Given the description of an element on the screen output the (x, y) to click on. 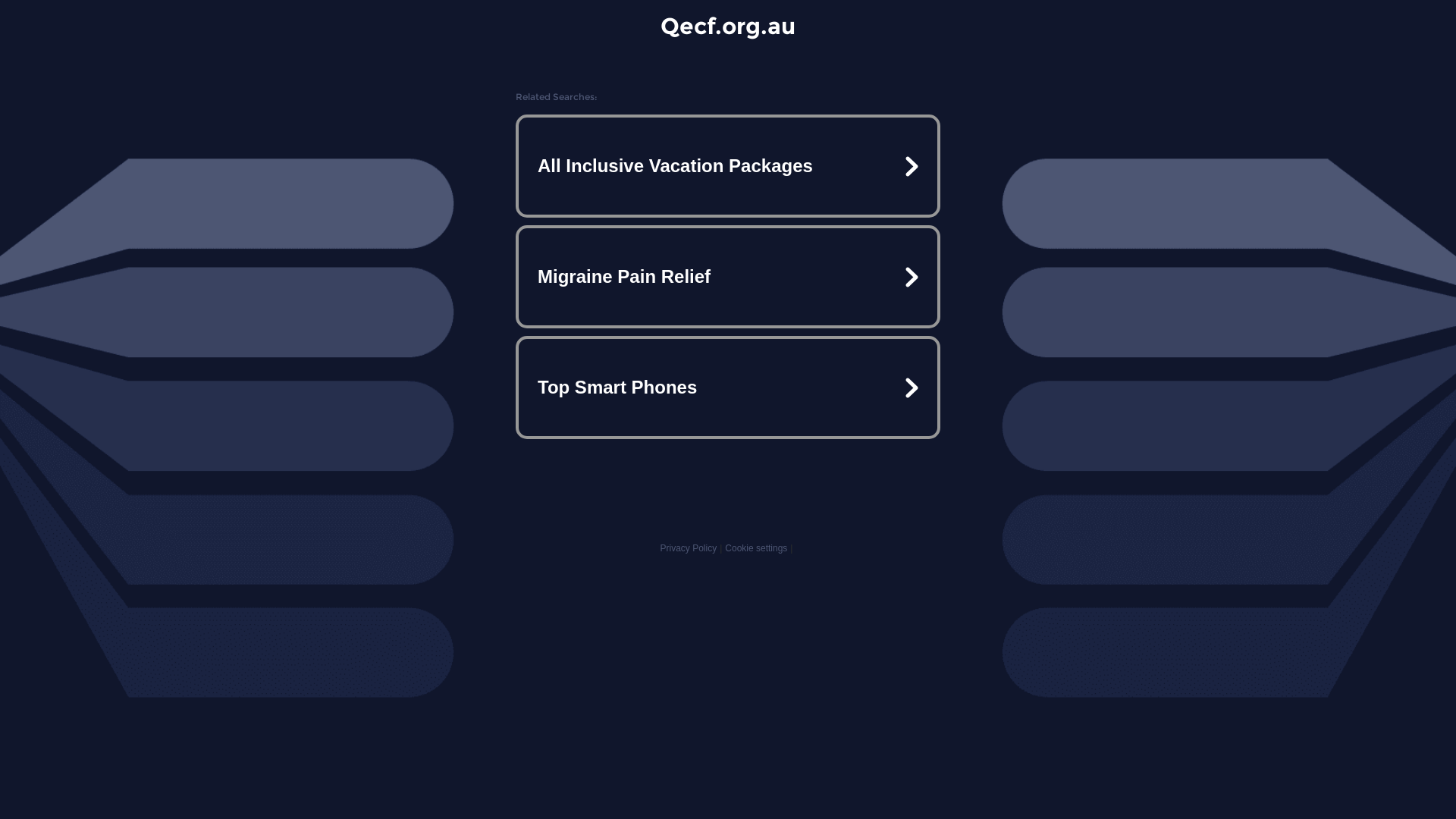
Top Smart Phones Element type: text (727, 387)
Qecf.org.au Element type: text (727, 26)
Migraine Pain Relief Element type: text (727, 276)
Cookie settings Element type: text (755, 547)
All Inclusive Vacation Packages Element type: text (727, 165)
Privacy Policy Element type: text (687, 547)
